Given the description of an element on the screen output the (x, y) to click on. 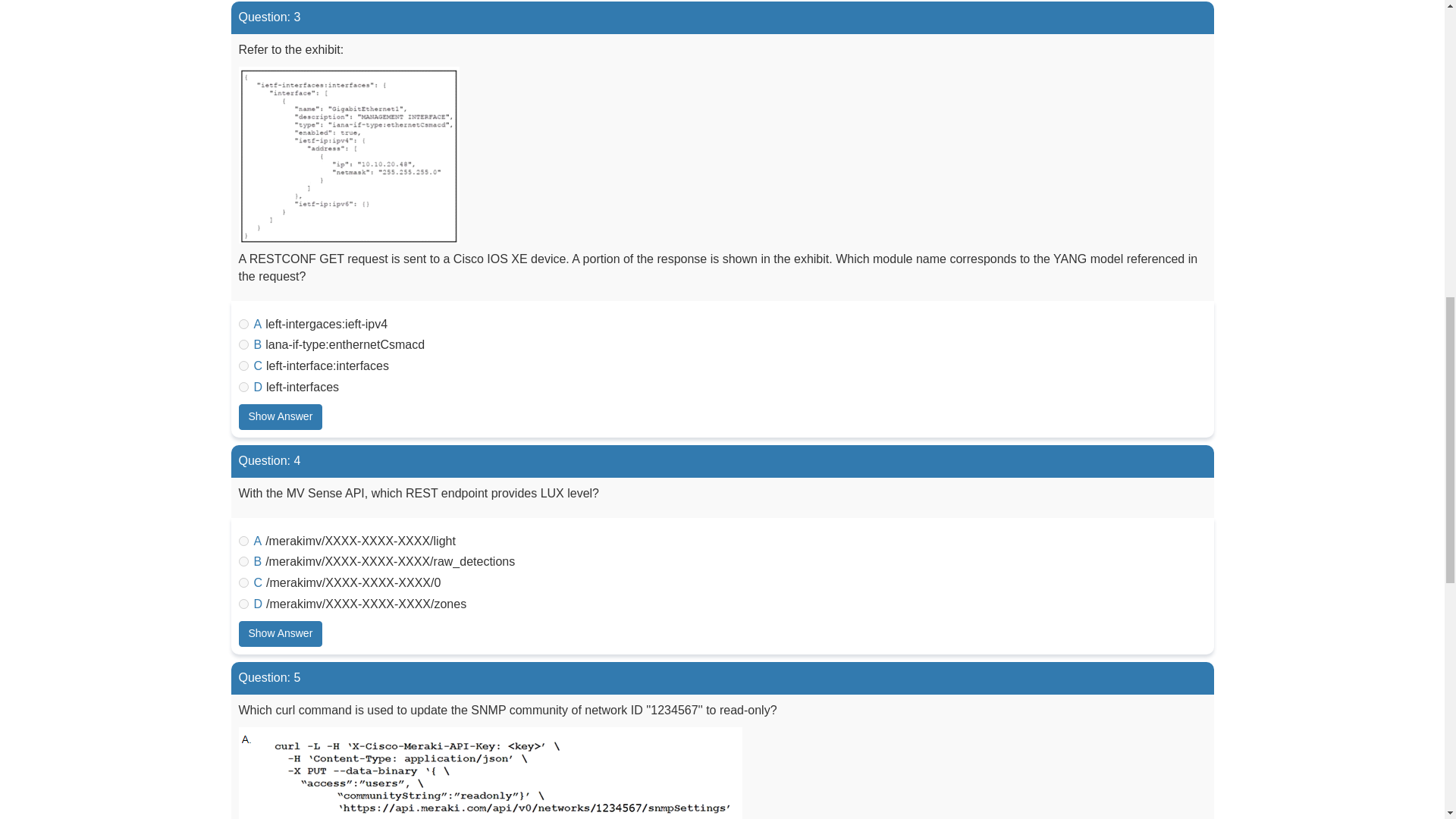
D (242, 387)
A (242, 541)
B (242, 561)
B (242, 344)
D (242, 603)
C (242, 366)
C (242, 583)
A (242, 323)
